Given the description of an element on the screen output the (x, y) to click on. 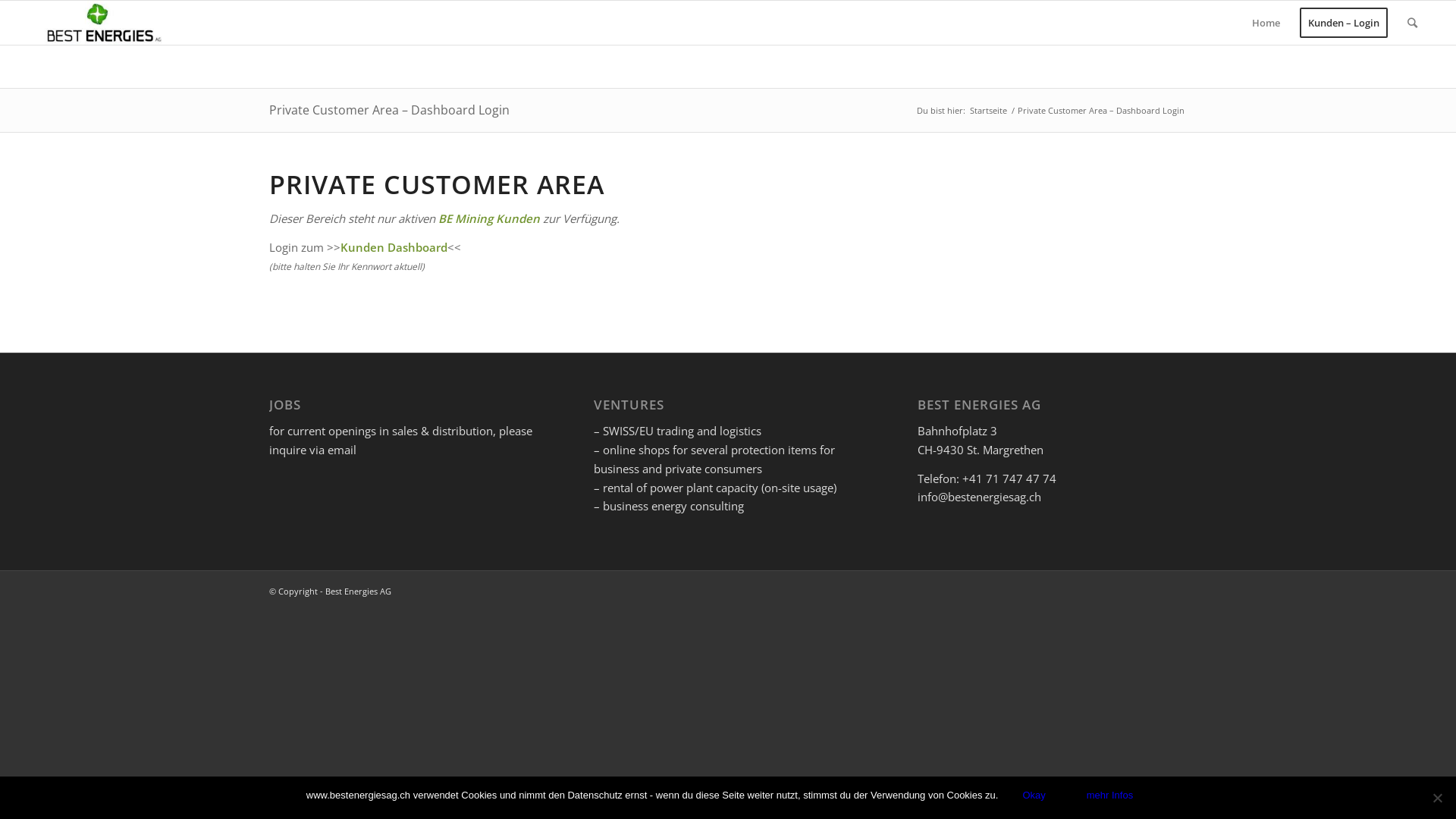
Home Element type: text (1265, 22)
Okay Element type: text (1033, 794)
mehr Infos Element type: text (1109, 794)
Kunden Dashboard Element type: text (393, 246)
Startseite Element type: text (988, 110)
